Given the description of an element on the screen output the (x, y) to click on. 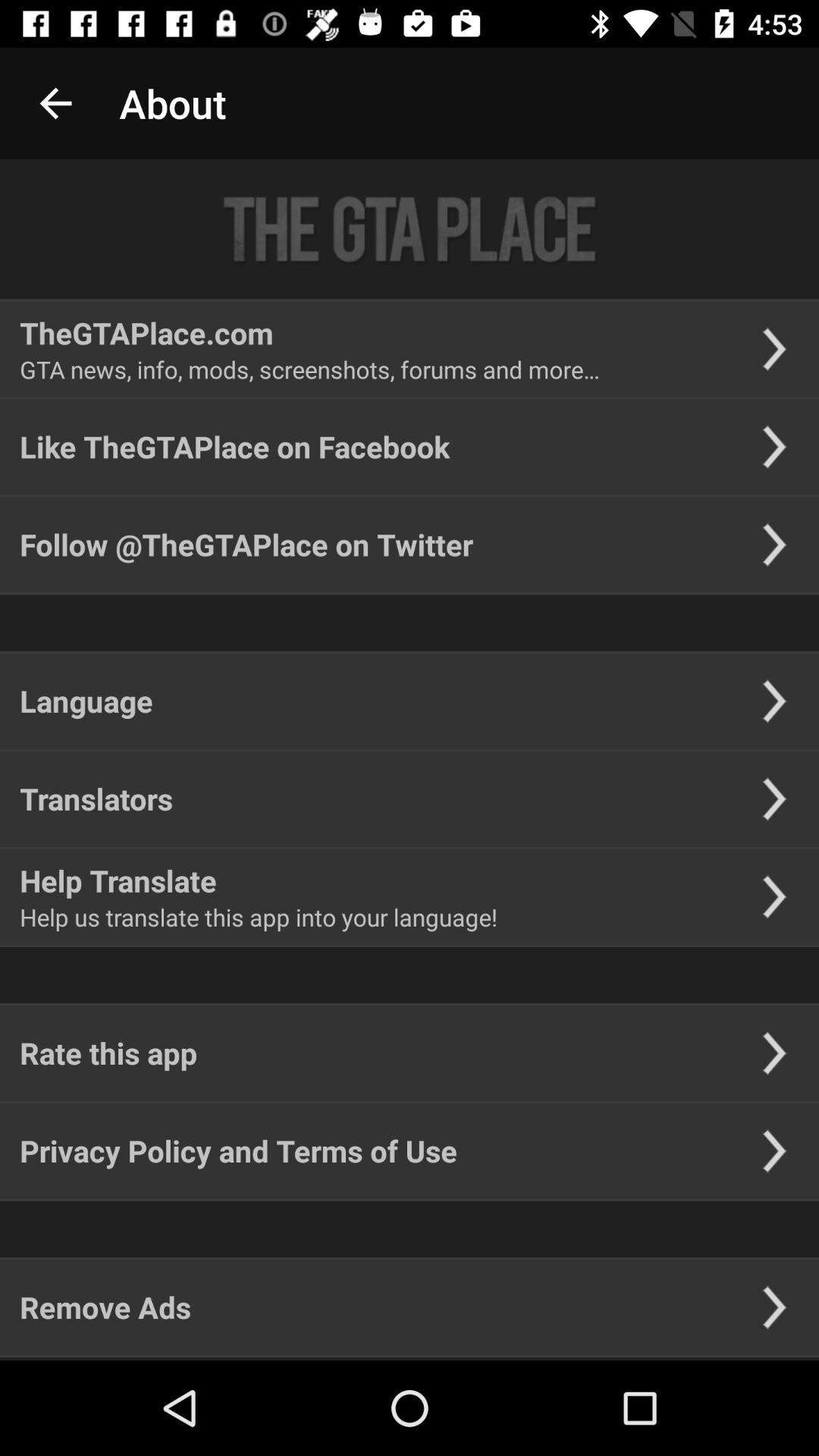
turn off the icon below language (95, 798)
